Given the description of an element on the screen output the (x, y) to click on. 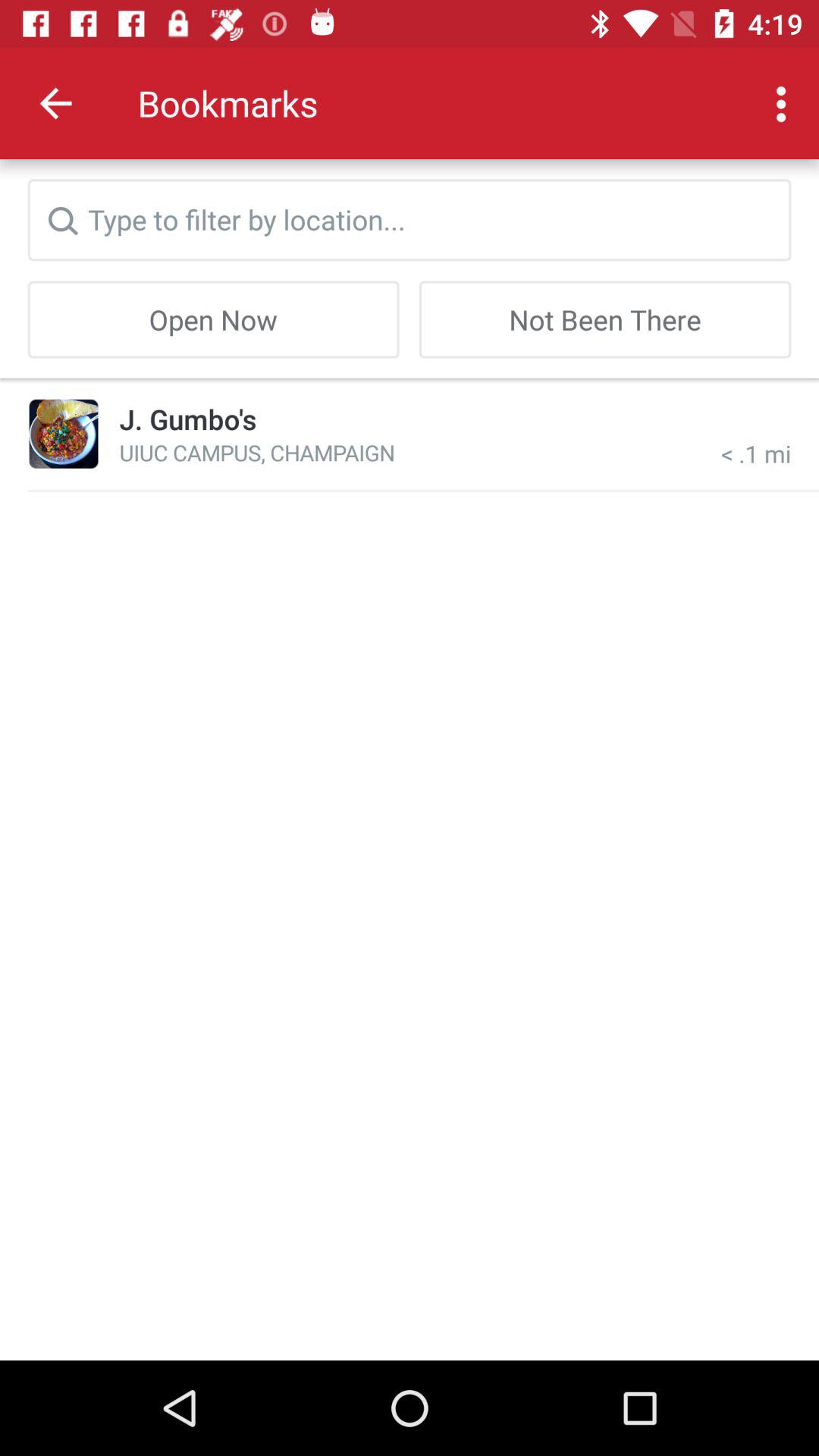
turn on icon next to < .1 mi (256, 452)
